Given the description of an element on the screen output the (x, y) to click on. 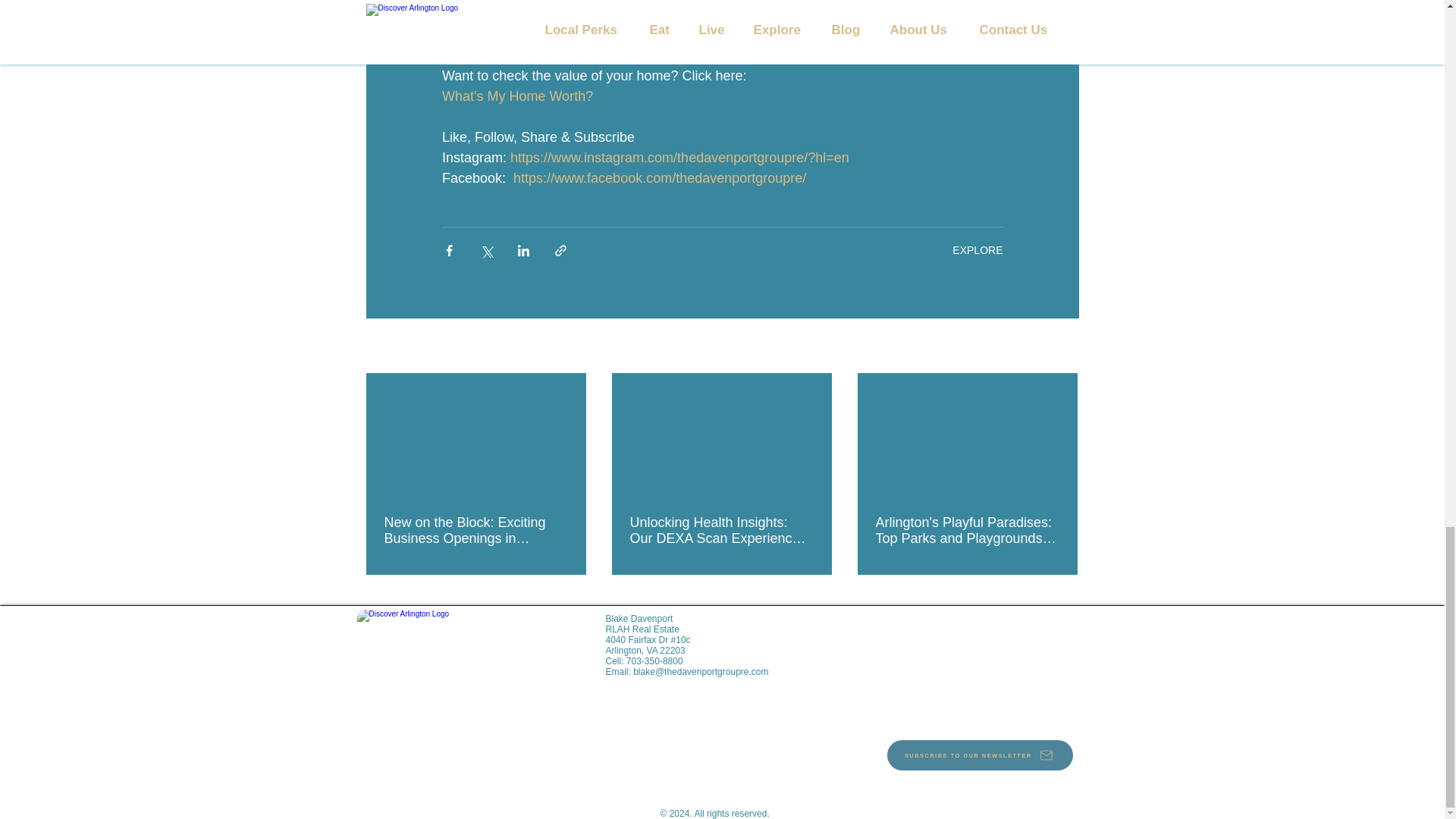
What's My Home Worth? (516, 96)
